Given the description of an element on the screen output the (x, y) to click on. 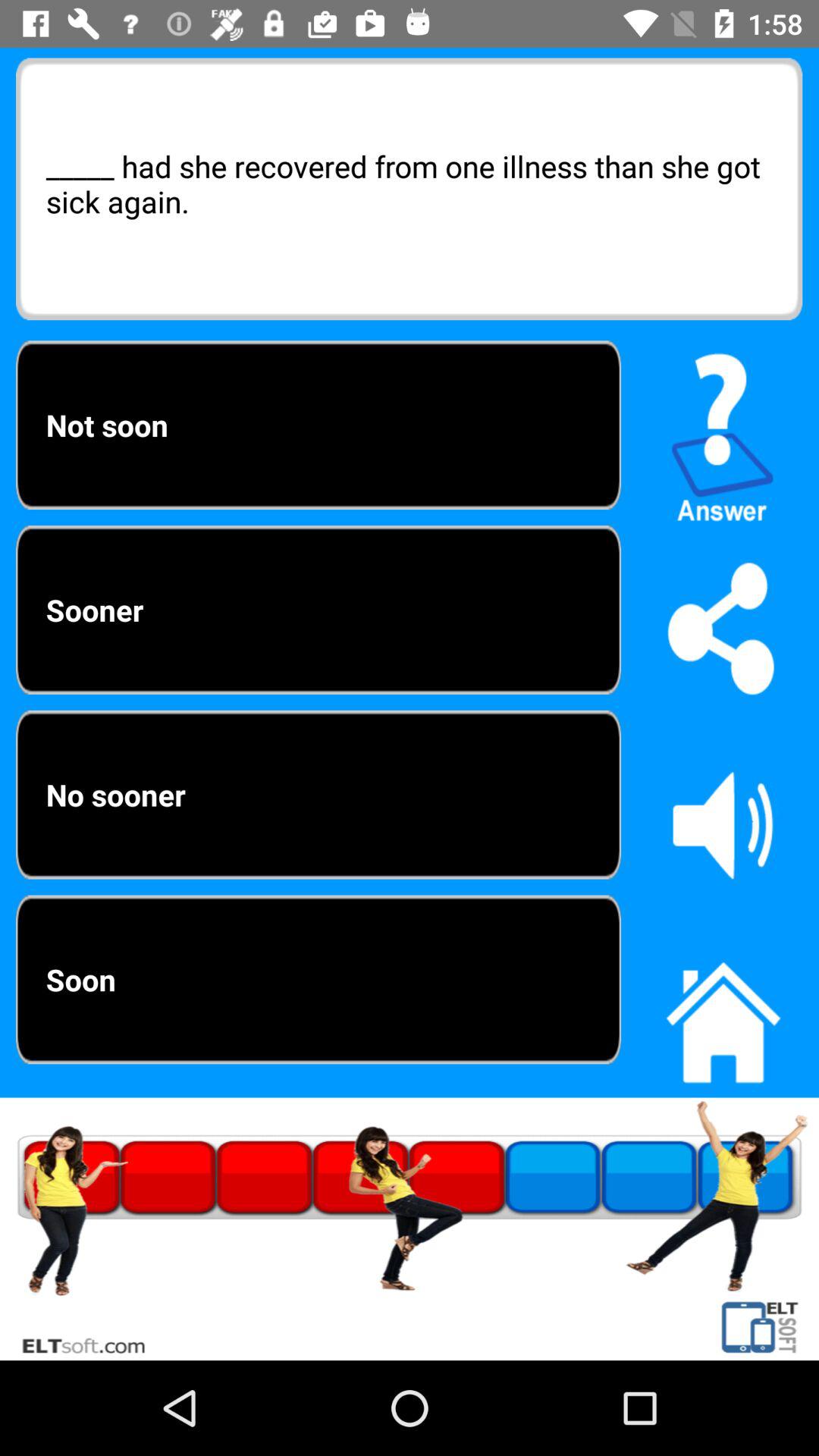
select answer (723, 430)
